Given the description of an element on the screen output the (x, y) to click on. 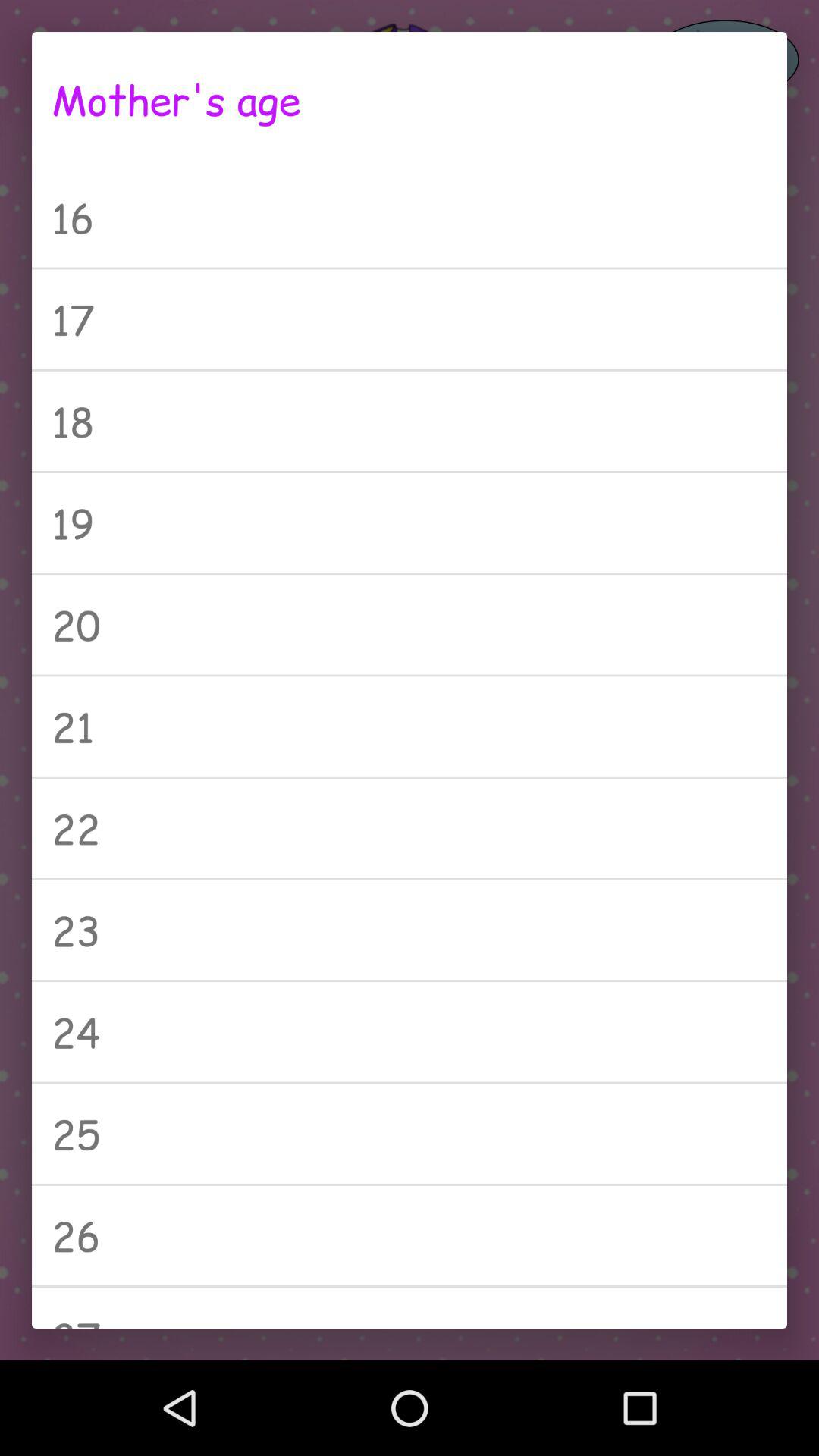
turn on the 16 (409, 217)
